Given the description of an element on the screen output the (x, y) to click on. 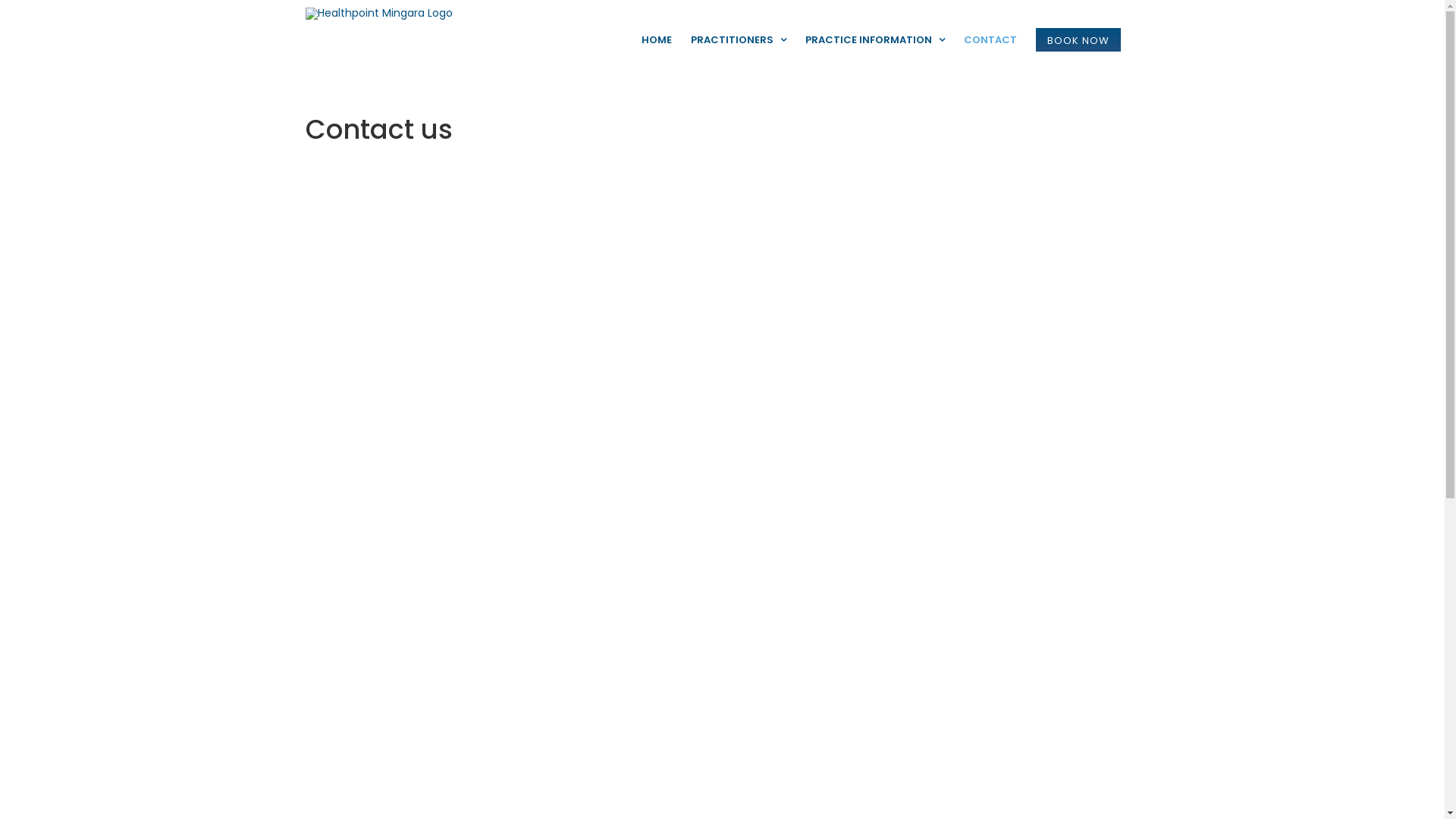
submit Element type: text (754, 622)
BOOK NOW Element type: text (1077, 39)
CONTACT Element type: text (989, 39)
PRACTITIONERS Element type: text (737, 39)
HOME Element type: text (656, 39)
PRACTICE INFORMATION Element type: text (874, 39)
